Given the description of an element on the screen output the (x, y) to click on. 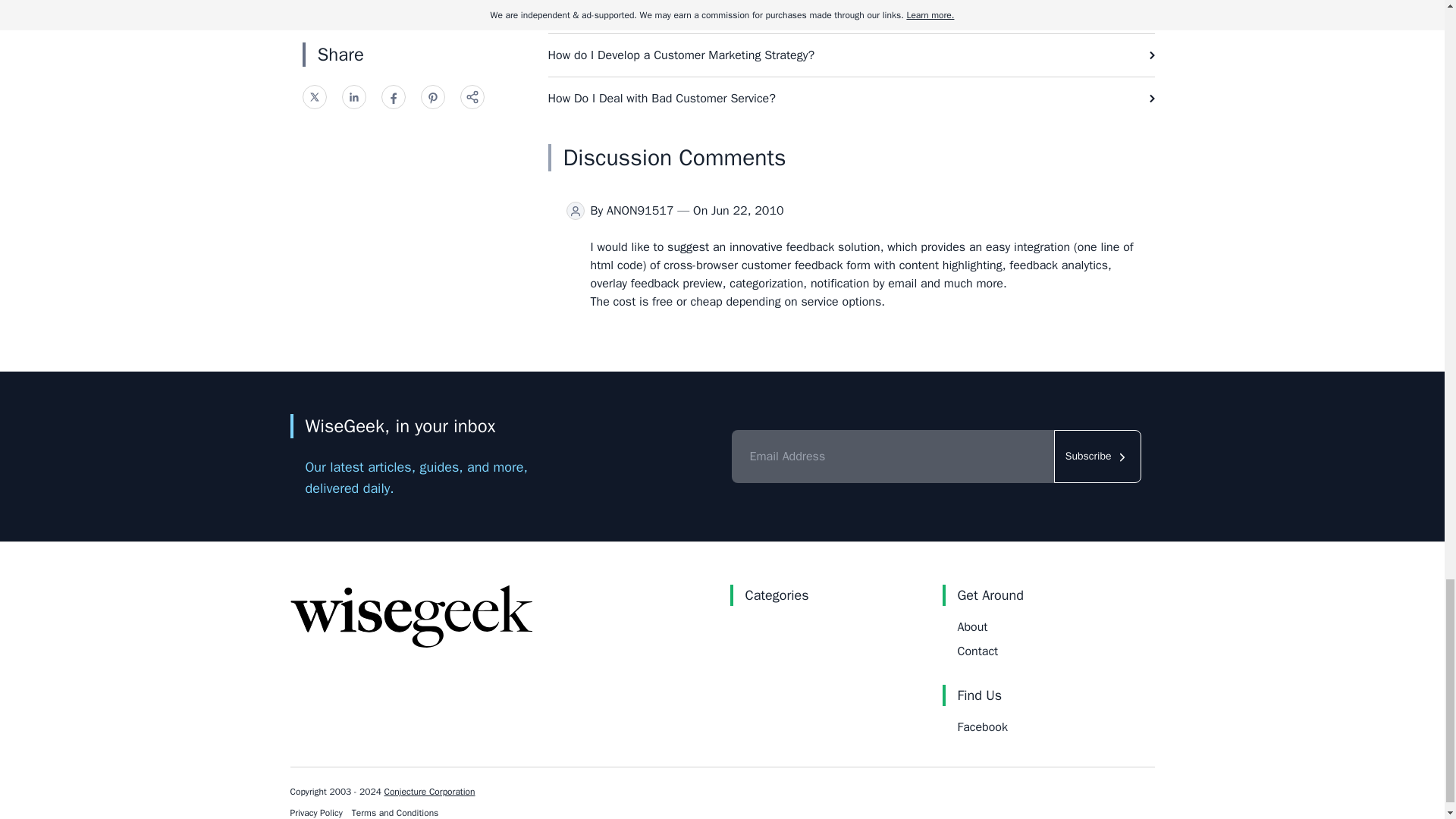
How do I Develop a Customer Marketing Strategy? (850, 55)
How Do I Deal with Bad Customer Service? (850, 97)
Subscribe (1097, 456)
What is Customer Process? (850, 16)
